Given the description of an element on the screen output the (x, y) to click on. 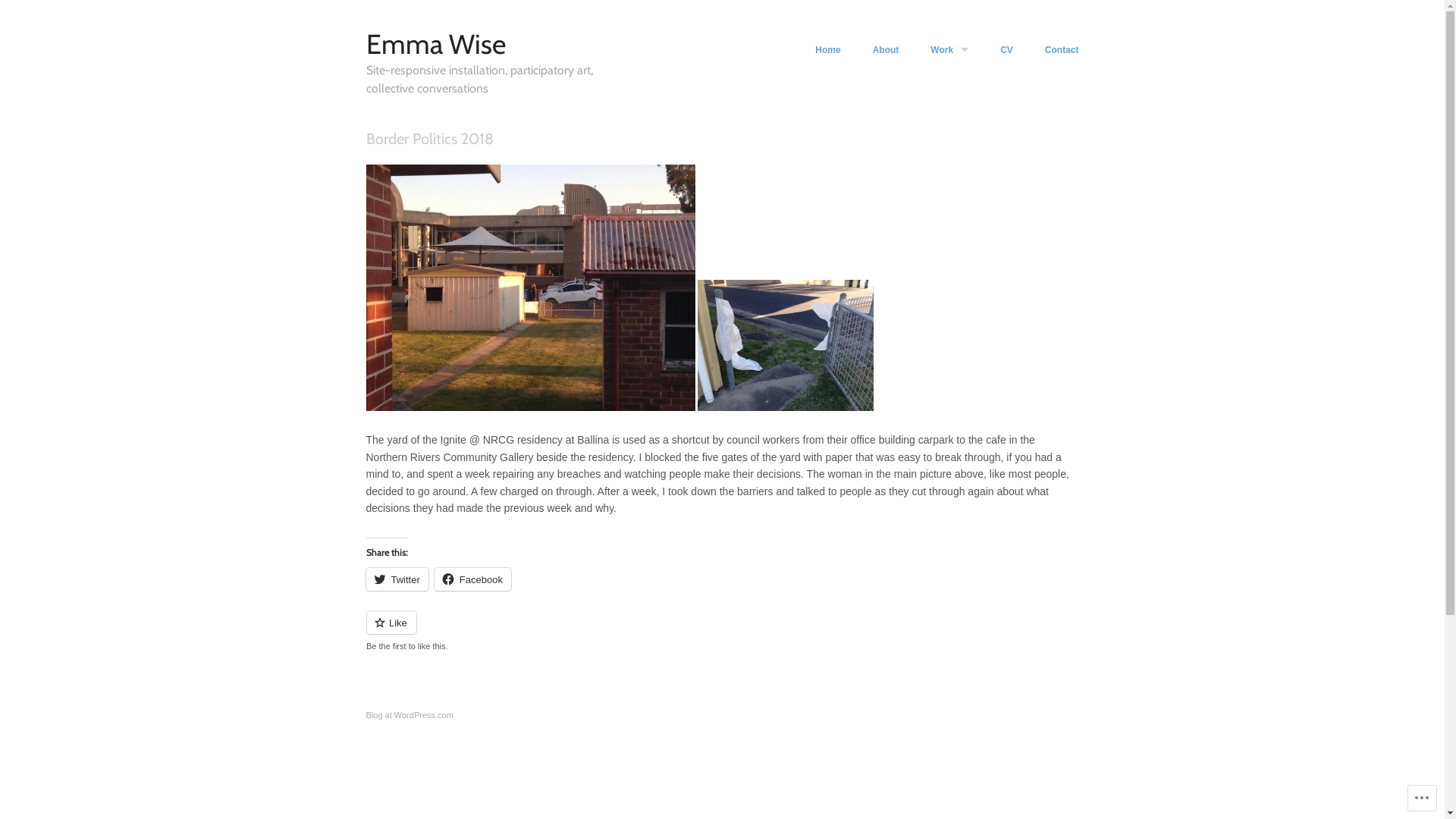
Like or Reblog Element type: hover (721, 631)
Contact Element type: text (1061, 49)
Twitter Element type: text (396, 578)
CV Element type: text (1006, 49)
Emma Wise Element type: text (435, 43)
Work Element type: text (949, 49)
Facebook Element type: text (472, 578)
About Element type: text (885, 49)
Skip to content Element type: text (680, 52)
Blog at WordPress.com. Element type: text (410, 714)
Home Element type: text (827, 49)
